Given the description of an element on the screen output the (x, y) to click on. 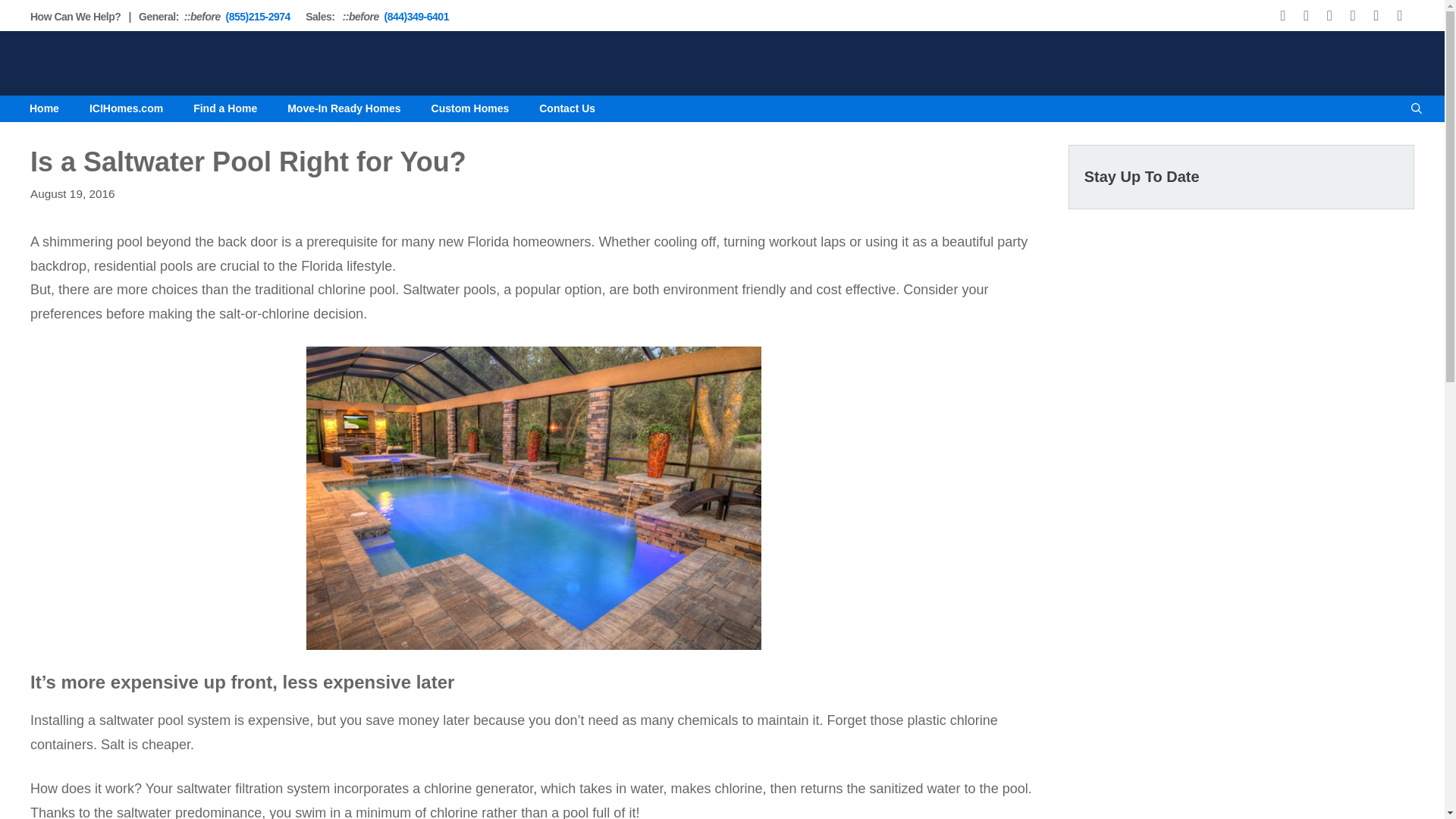
Pinterest (1352, 16)
Custom Homes (470, 108)
Facebook (1282, 16)
Contact Us (567, 108)
LinkedIn (1375, 16)
Home (44, 108)
ICIHomes.com (125, 108)
Instagram (1329, 16)
Twitter (1305, 16)
